Given the description of an element on the screen output the (x, y) to click on. 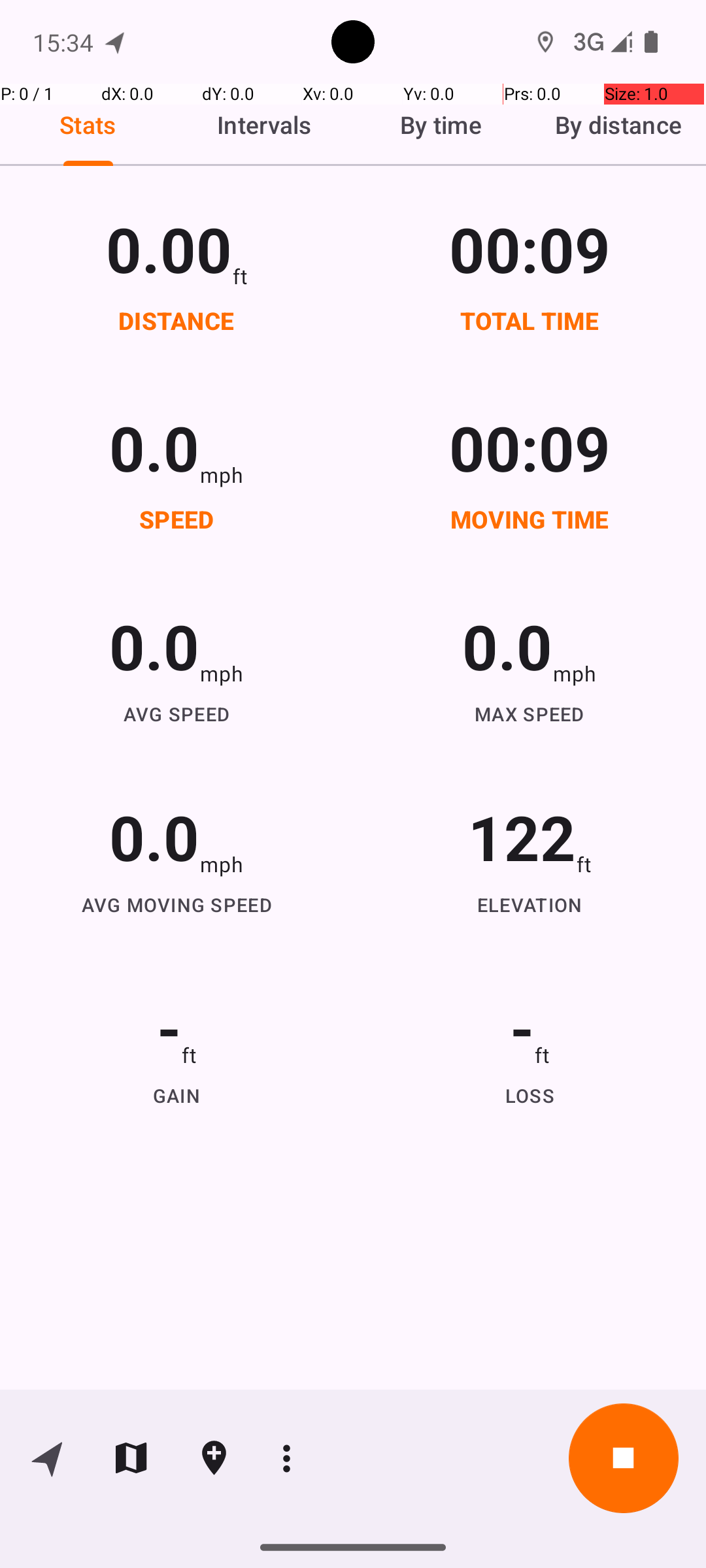
Insert marker Element type: android.widget.Button (213, 1458)
Stop Element type: android.widget.ImageButton (623, 1458)
0.00 Element type: android.widget.TextView (168, 248)
00:09 Element type: android.widget.TextView (529, 248)
0.0 Element type: android.widget.TextView (154, 446)
122 Element type: android.widget.TextView (521, 836)
- Element type: android.widget.TextView (168, 1026)
